Given the description of an element on the screen output the (x, y) to click on. 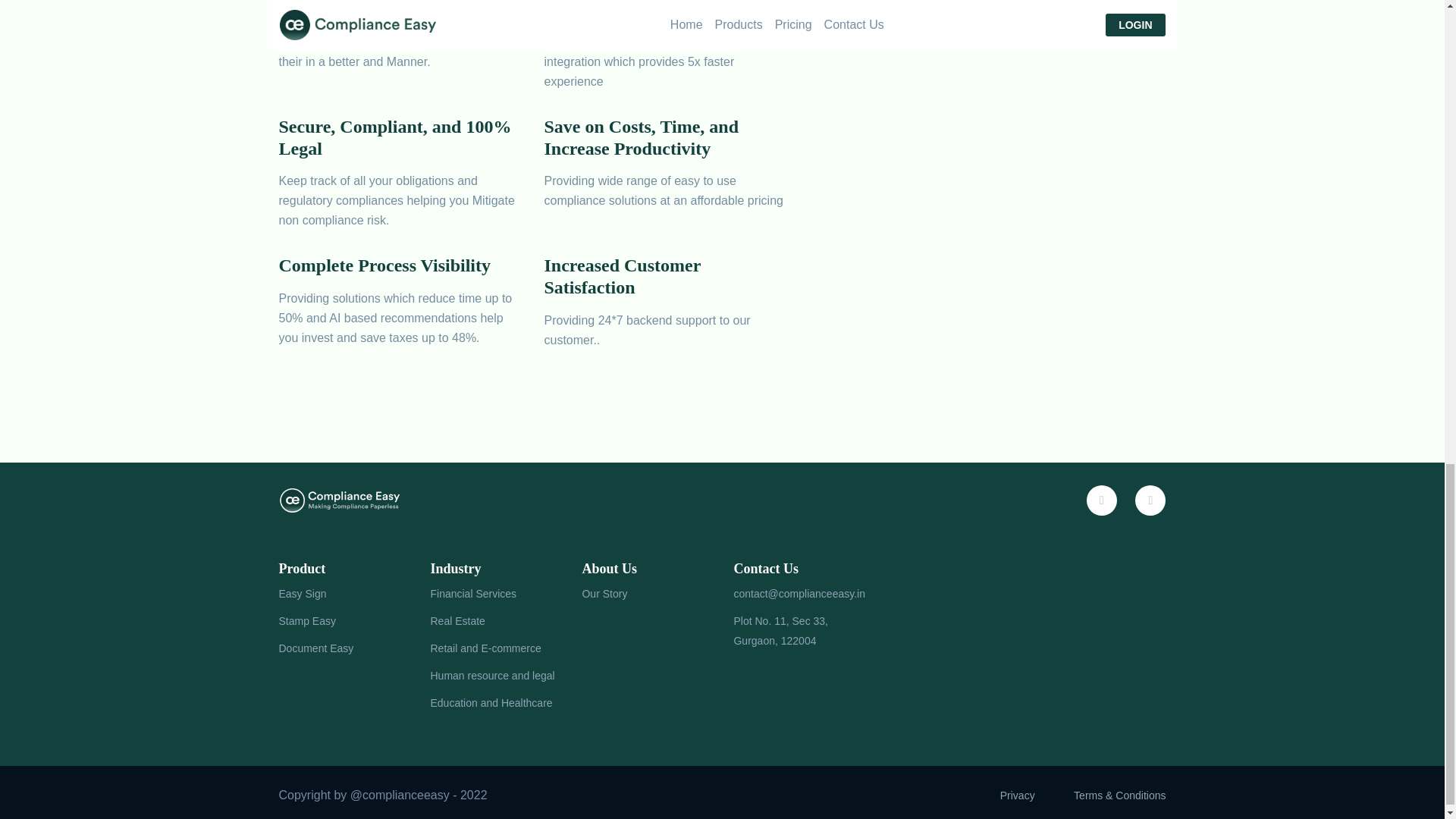
Stamp Easy (307, 620)
Document Easy (316, 648)
Real Estate (456, 620)
Our Story (603, 593)
Privacy (1017, 795)
Plot No. 11, Sec 33, Gurgaon, 122004 (797, 630)
Easy Sign (302, 593)
Financial Services (472, 593)
Human resource and legal (491, 675)
Retail and E-commerce (484, 648)
